Given the description of an element on the screen output the (x, y) to click on. 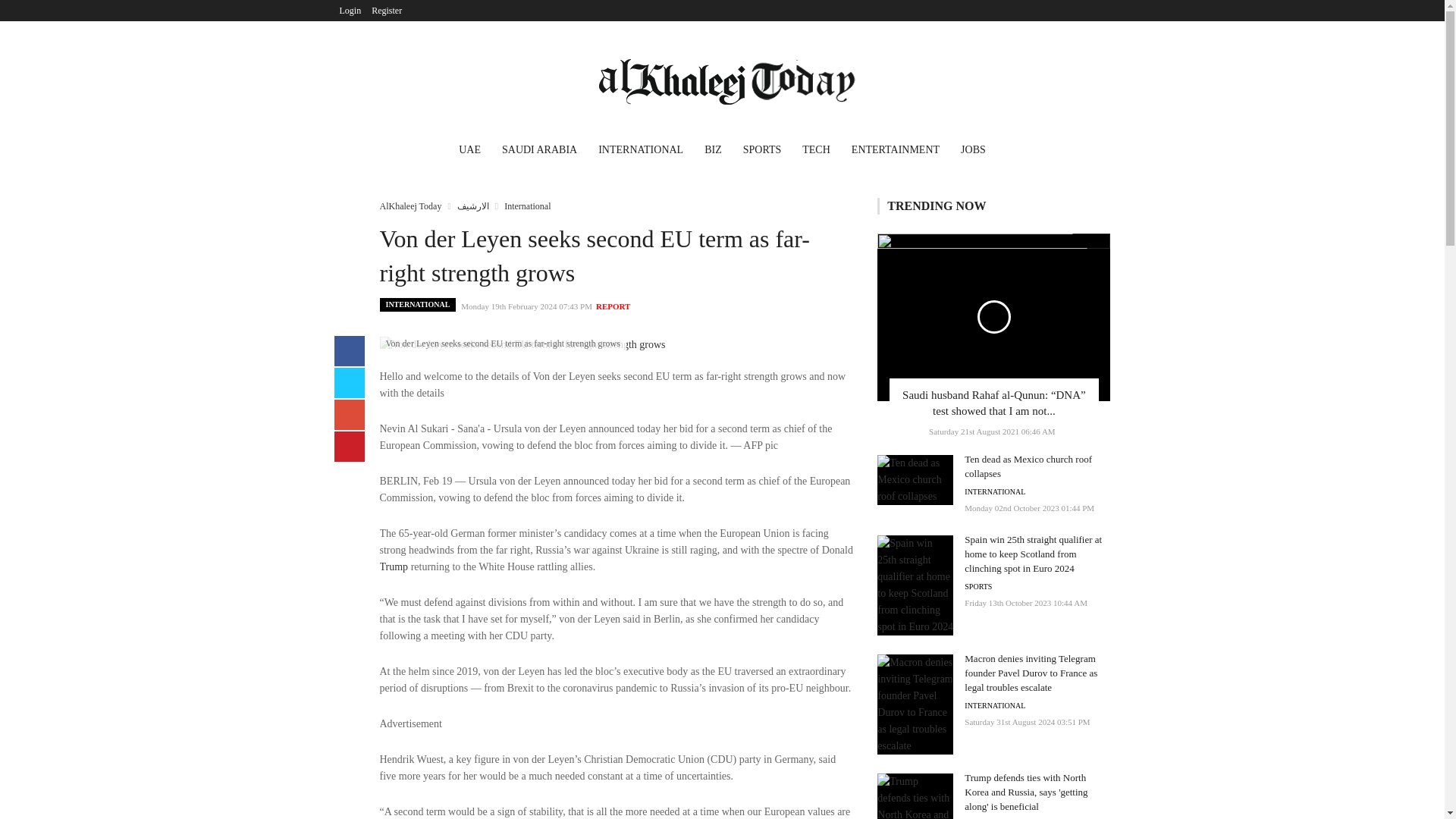
SPORTS (762, 151)
TECH (816, 151)
REPORT (612, 306)
Trump (392, 566)
ENTERTAINMENT (895, 151)
INTERNATIONAL (994, 492)
UAE (470, 151)
Register (386, 10)
